Given the description of an element on the screen output the (x, y) to click on. 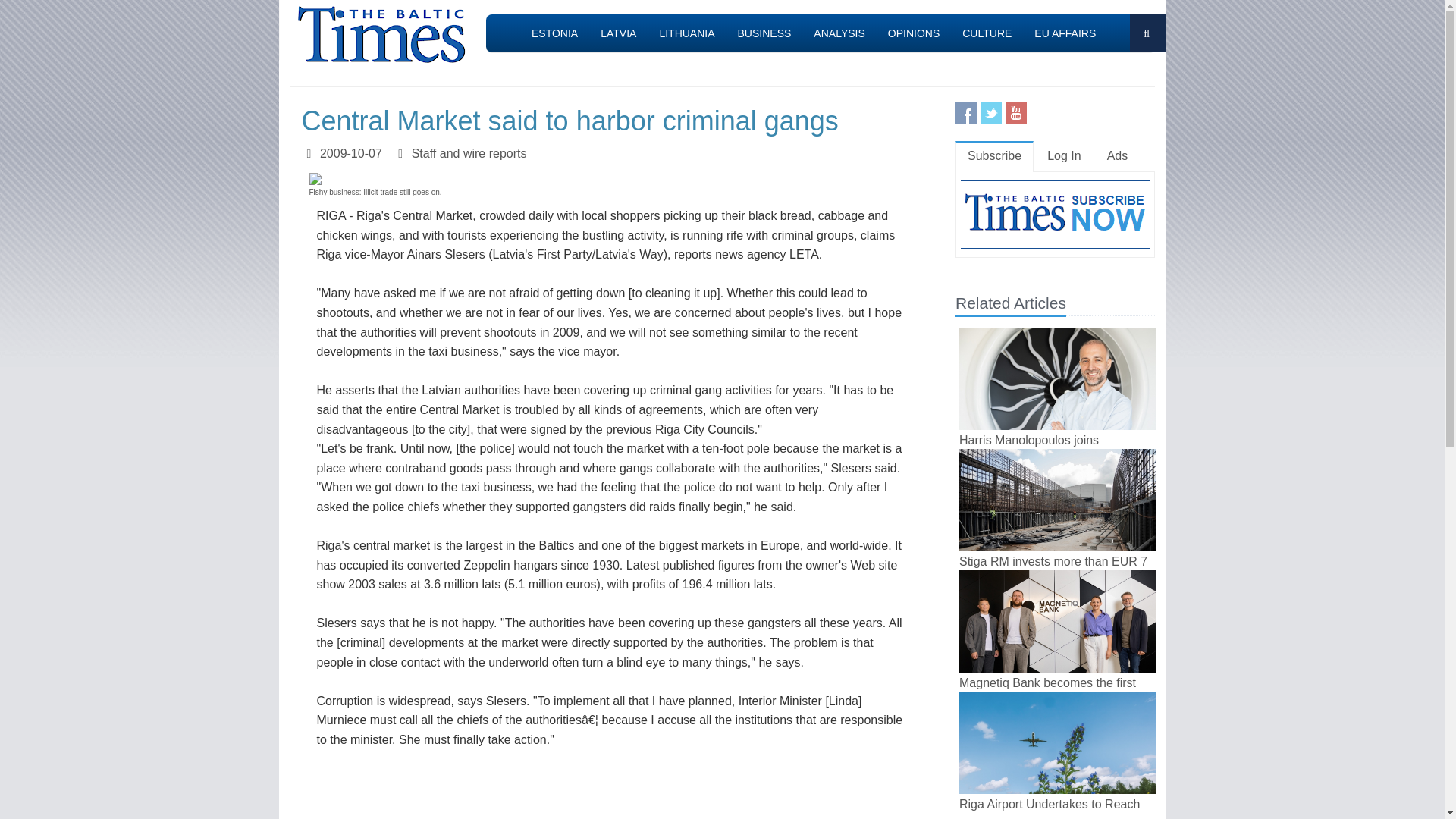
Advertisement (622, 794)
BUSINESS (764, 33)
OPINIONS (913, 33)
Subscribe (994, 155)
LATVIA (618, 33)
ANALYSIS (839, 33)
ESTONIA (554, 33)
LITHUANIA (686, 33)
Log In (1064, 155)
CULTURE (986, 33)
